Given the description of an element on the screen output the (x, y) to click on. 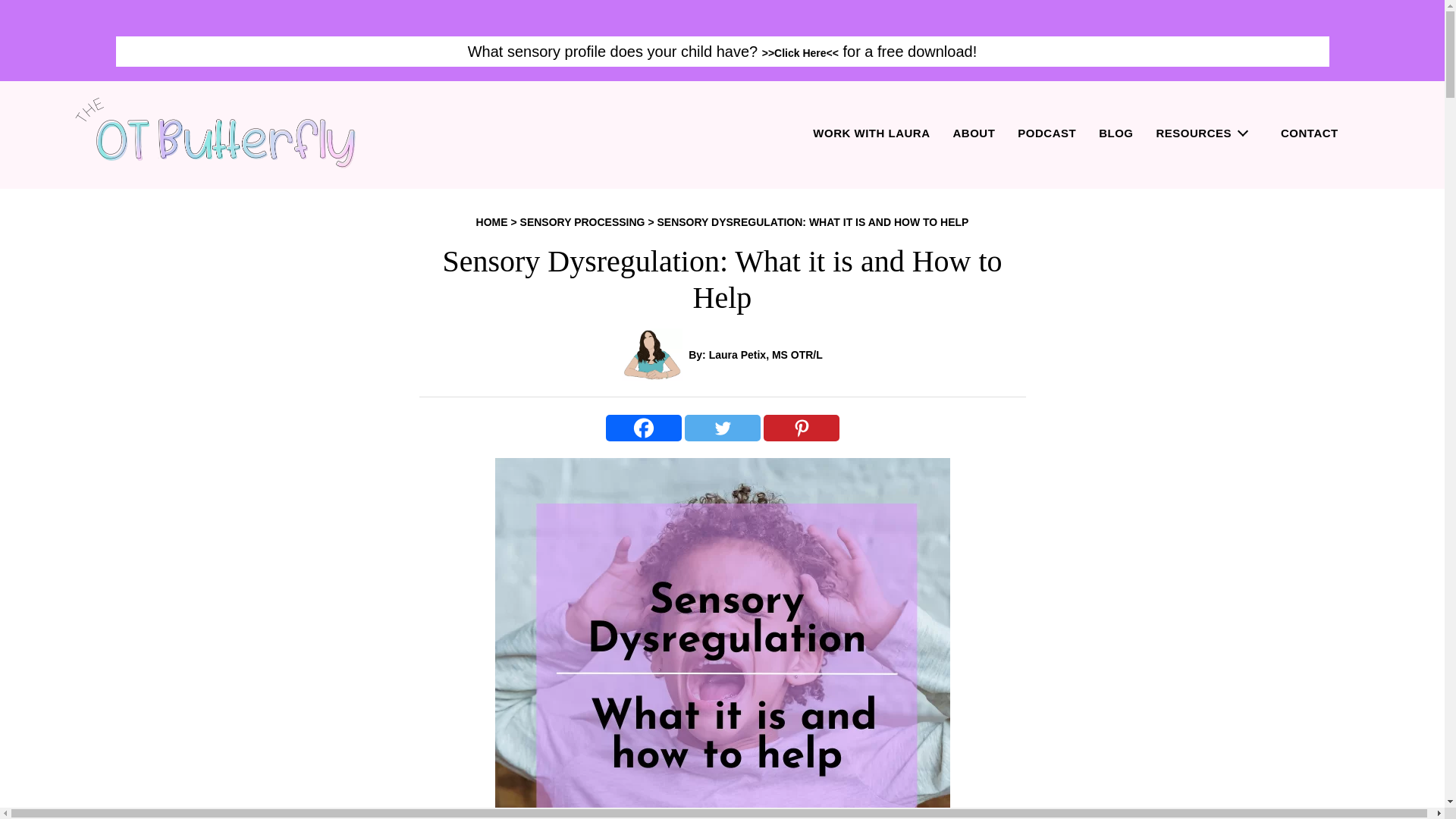
Facebook (643, 427)
ABOUT (973, 134)
Pinterest (800, 427)
RESOURCES (1201, 134)
PODCAST (1046, 134)
HOME (492, 222)
Twitter (722, 427)
WORK WITH LAURA (871, 134)
SENSORY PROCESSING (582, 222)
BLOG (1115, 134)
CONTACT (1309, 134)
